Given the description of an element on the screen output the (x, y) to click on. 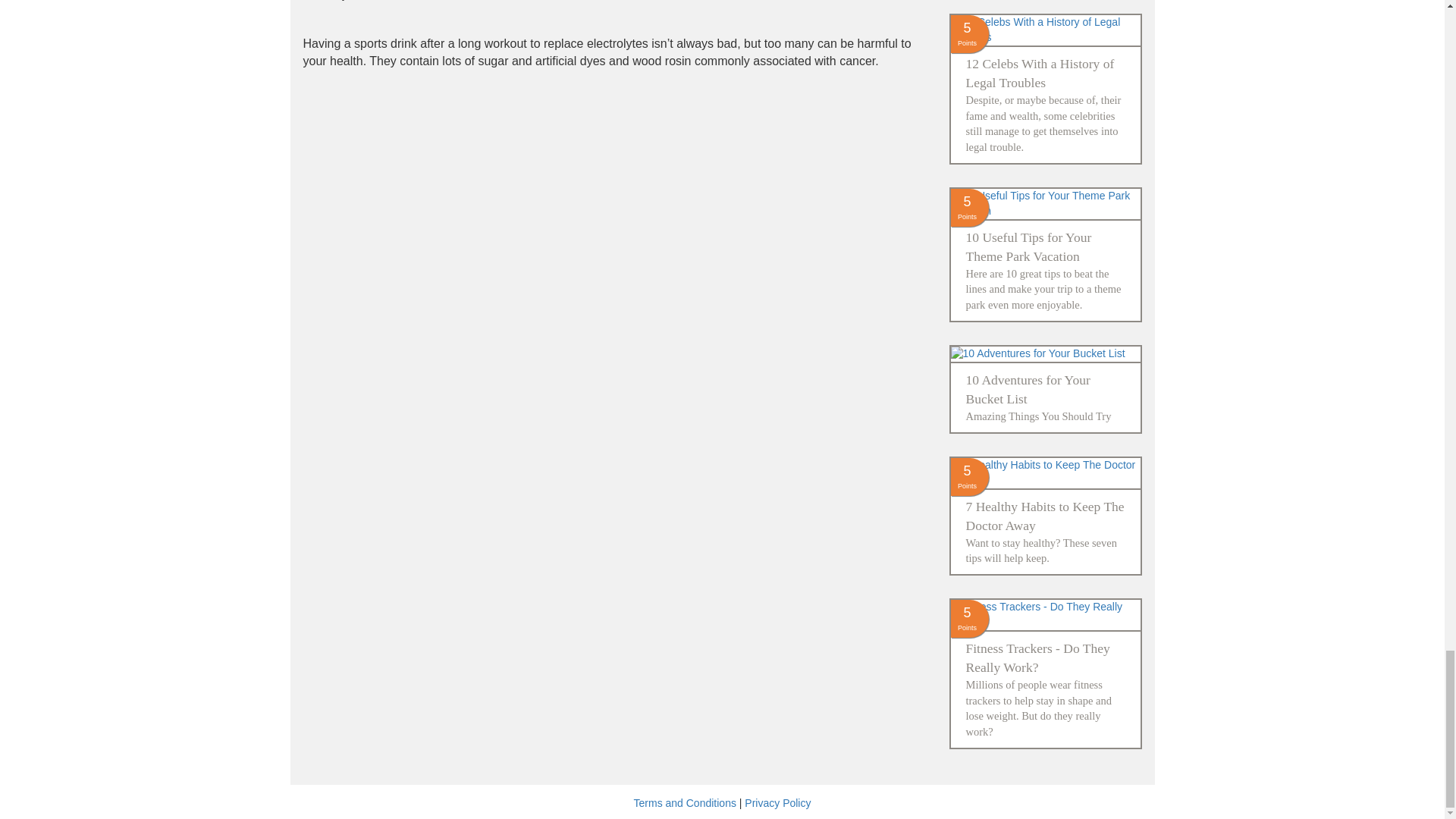
Privacy Policy (777, 802)
Terms and Conditions (684, 802)
Terms and Conditions (684, 802)
Privacy Policy (777, 802)
